Given the description of an element on the screen output the (x, y) to click on. 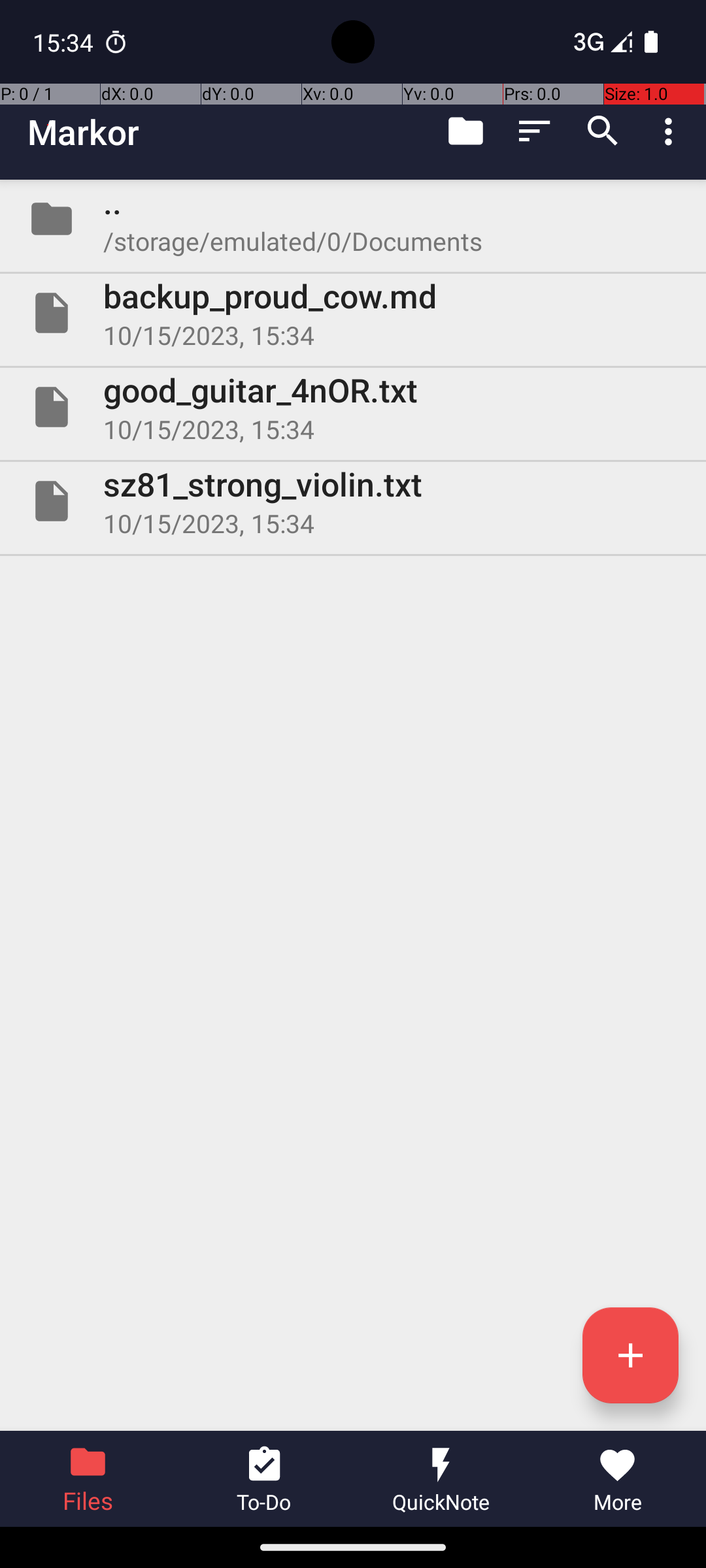
File backup_proud_cow.md  Element type: android.widget.LinearLayout (353, 312)
File good_guitar_4nOR.txt  Element type: android.widget.LinearLayout (353, 406)
File sz81_strong_violin.txt  Element type: android.widget.LinearLayout (353, 500)
